Given the description of an element on the screen output the (x, y) to click on. 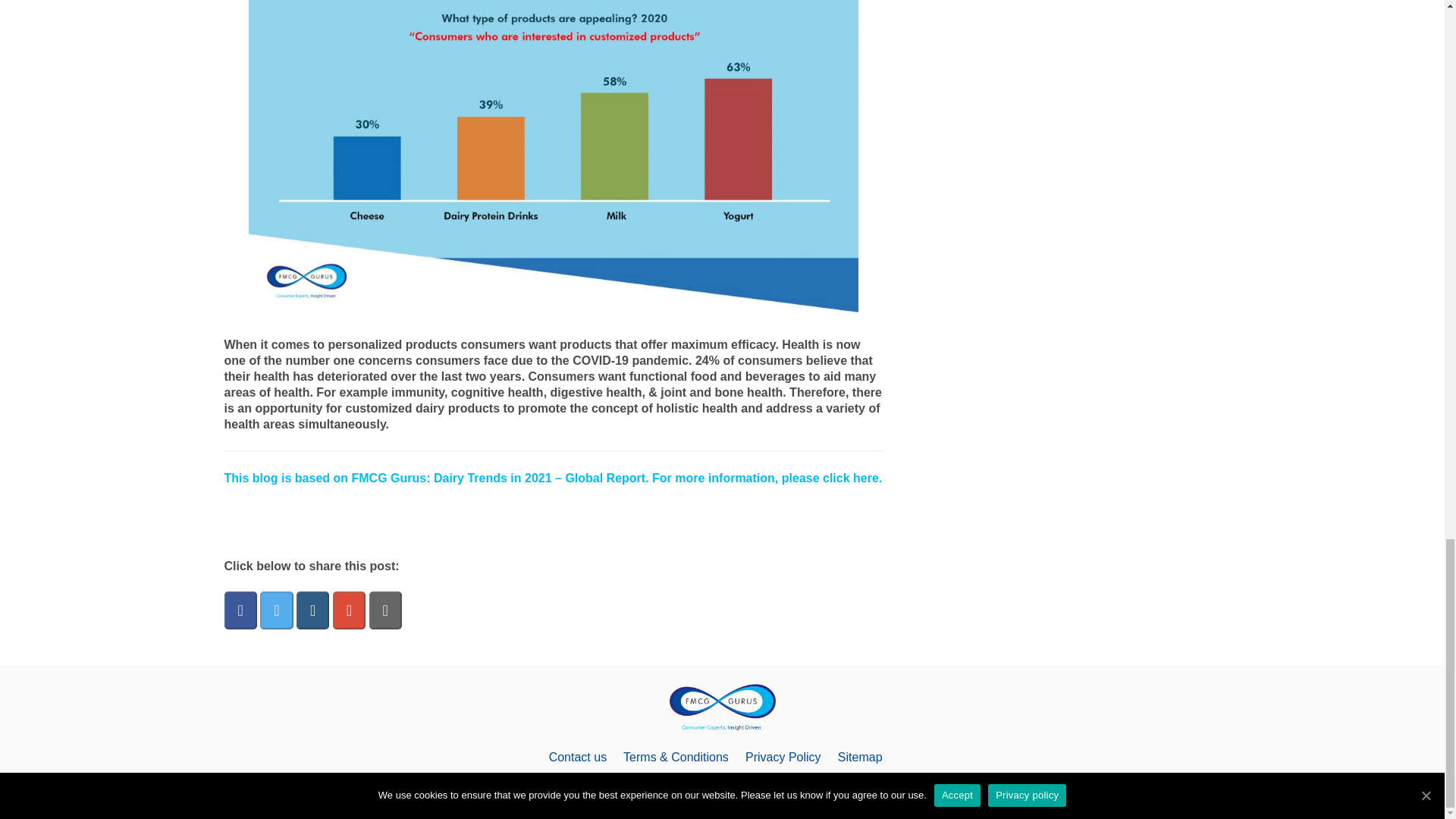
Share on LinkedIn (315, 611)
Email (385, 611)
Share on Facebook (242, 611)
Tweet (278, 611)
